Given the description of an element on the screen output the (x, y) to click on. 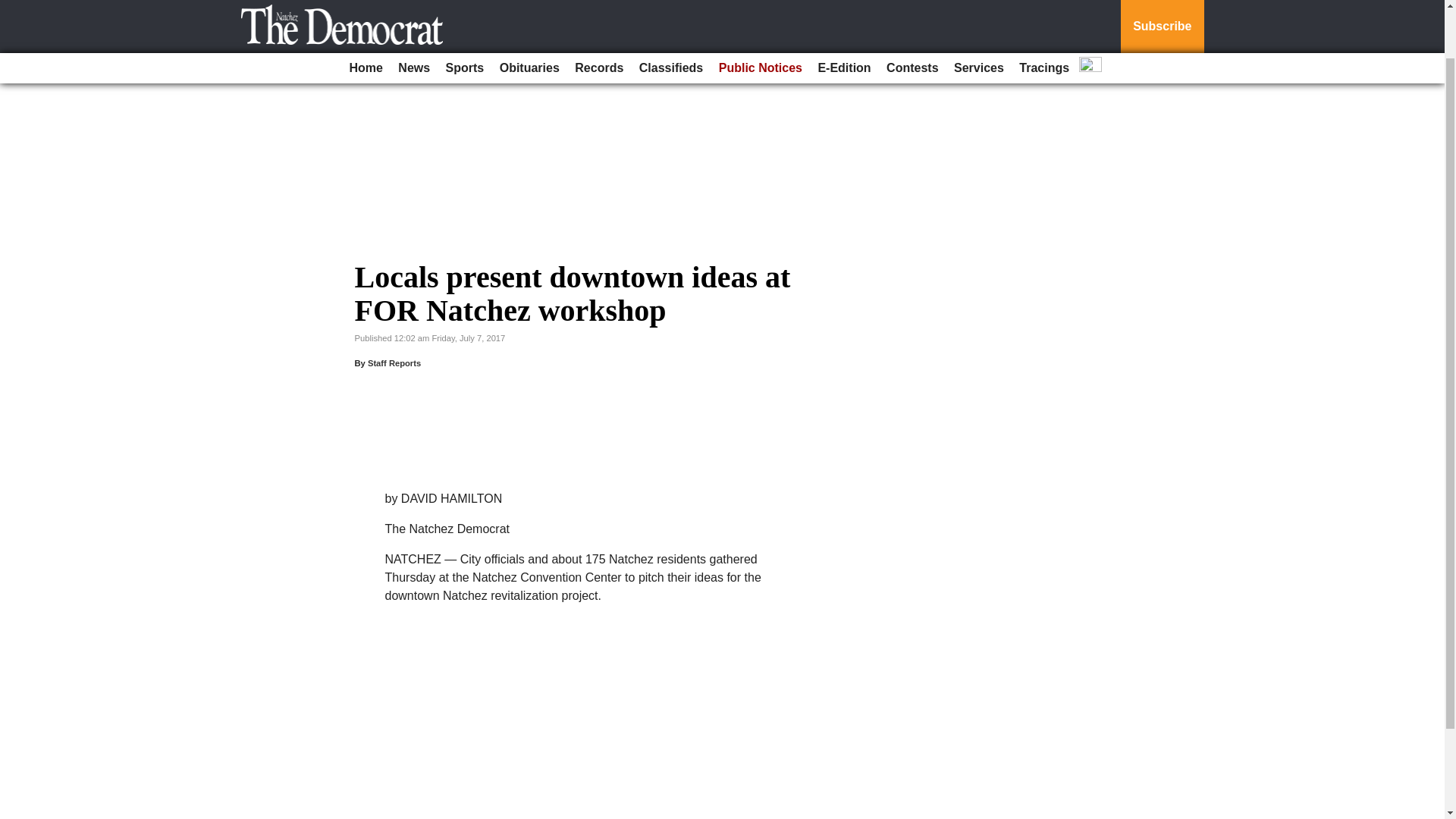
Public Notices (760, 12)
Tracings (1044, 12)
Records (598, 12)
Obituaries (529, 12)
Staff Reports (394, 362)
News (413, 12)
Sports (464, 12)
Contests (911, 12)
Home (365, 12)
E-Edition (843, 12)
